Given the description of an element on the screen output the (x, y) to click on. 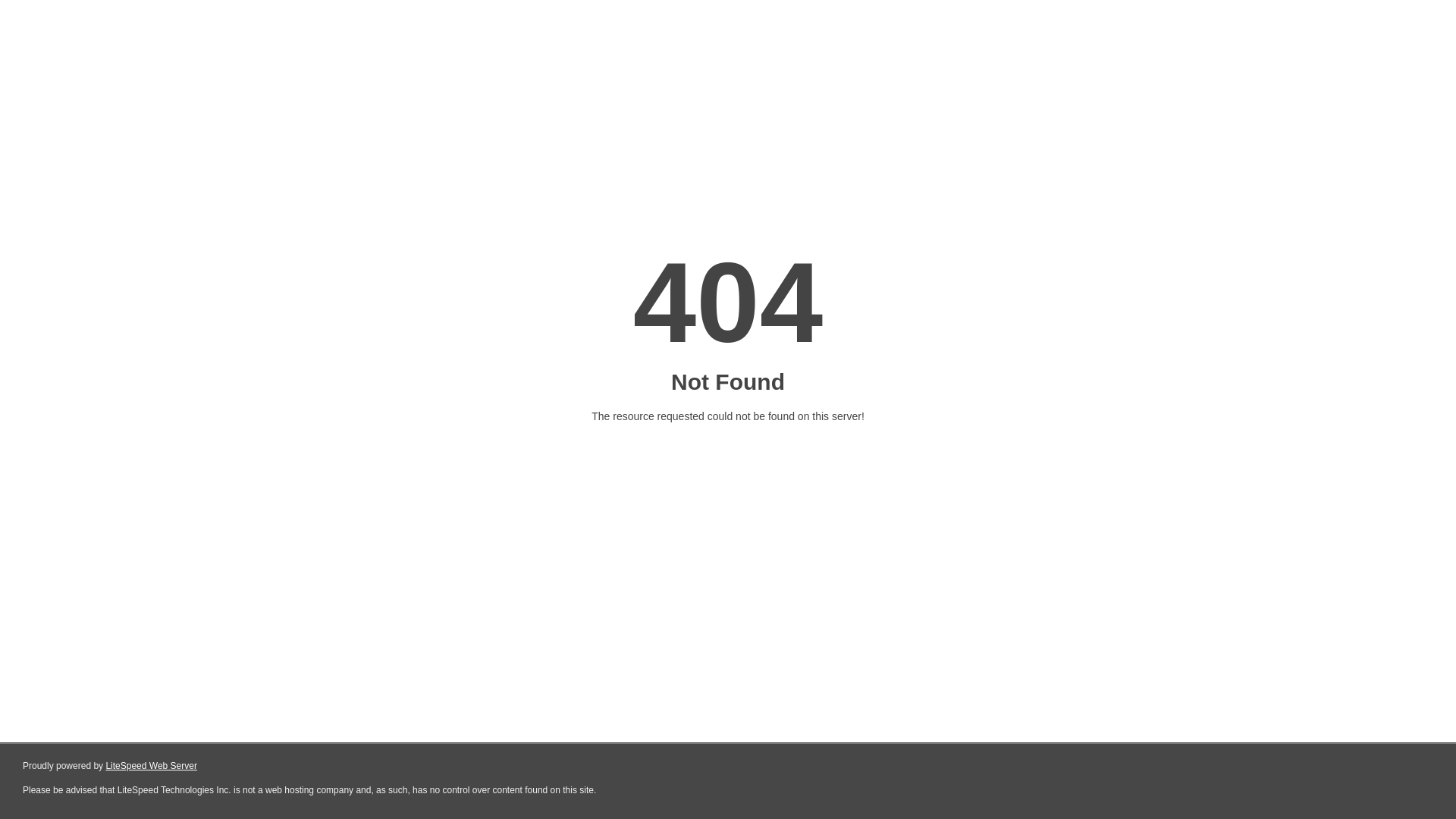
LiteSpeed Web Server (150, 765)
